Given the description of an element on the screen output the (x, y) to click on. 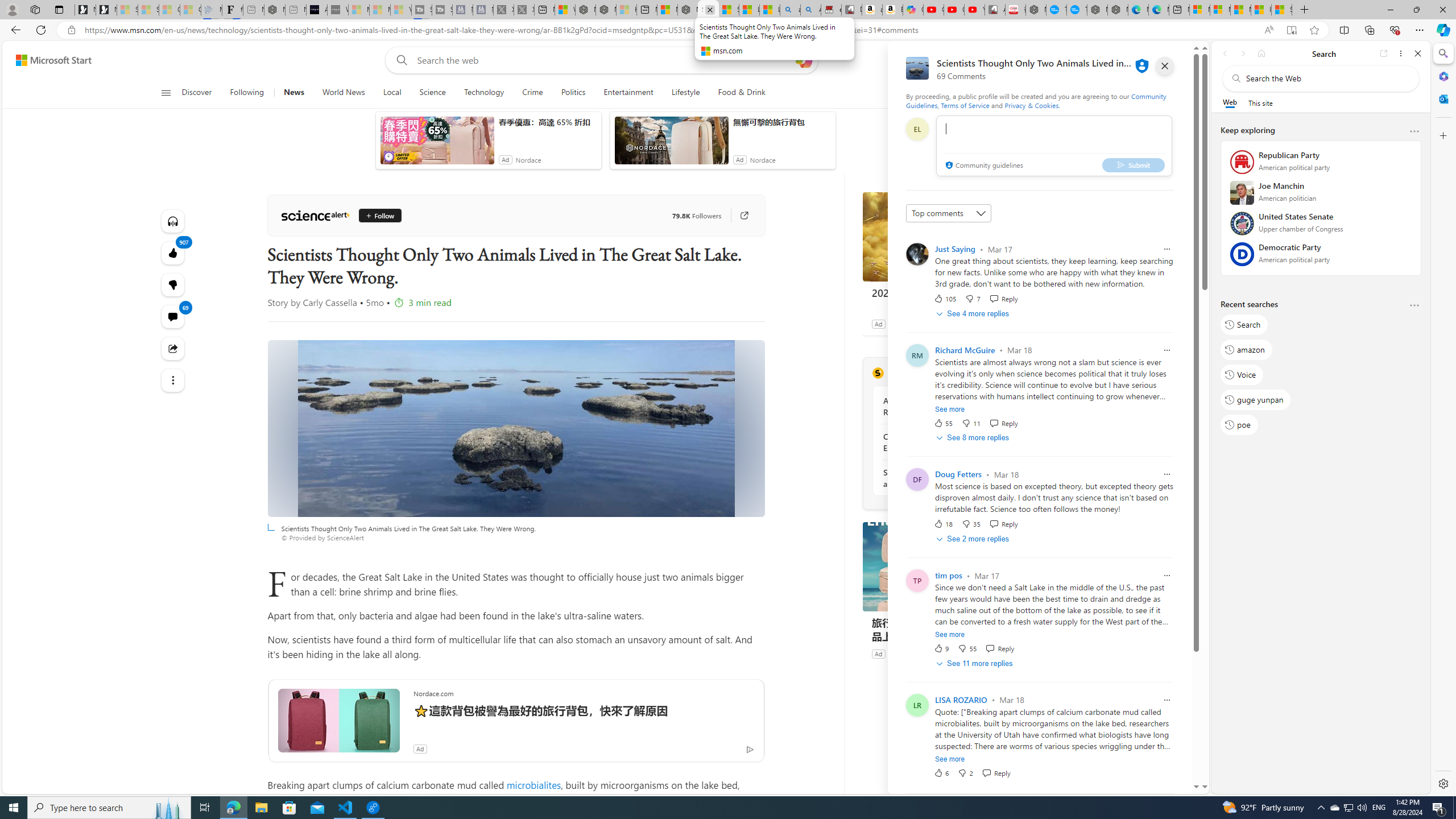
Following (248, 92)
What's the best AI voice generator? - voice.ai - Sleeping (337, 9)
Web search (398, 60)
ScienceAlert (315, 215)
Sort comments by (948, 212)
anim-content (671, 144)
Feedback (1157, 784)
New tab - Sleeping (296, 9)
Tab actions menu (58, 9)
More options (1414, 306)
Discover (201, 92)
Lifestyle (685, 92)
Microsoft Start (53, 60)
